Given the description of an element on the screen output the (x, y) to click on. 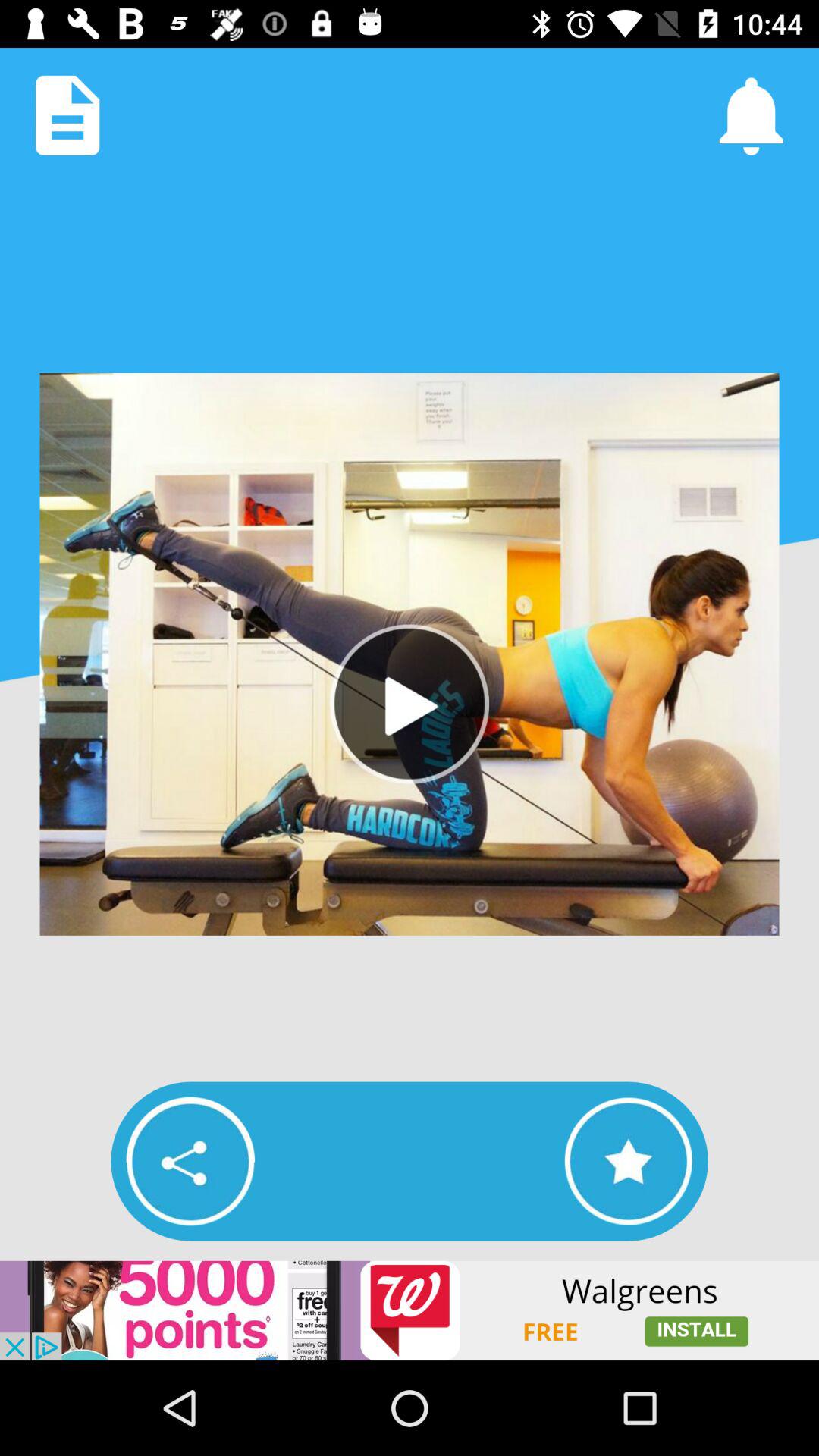
advertisement (409, 1310)
